Given the description of an element on the screen output the (x, y) to click on. 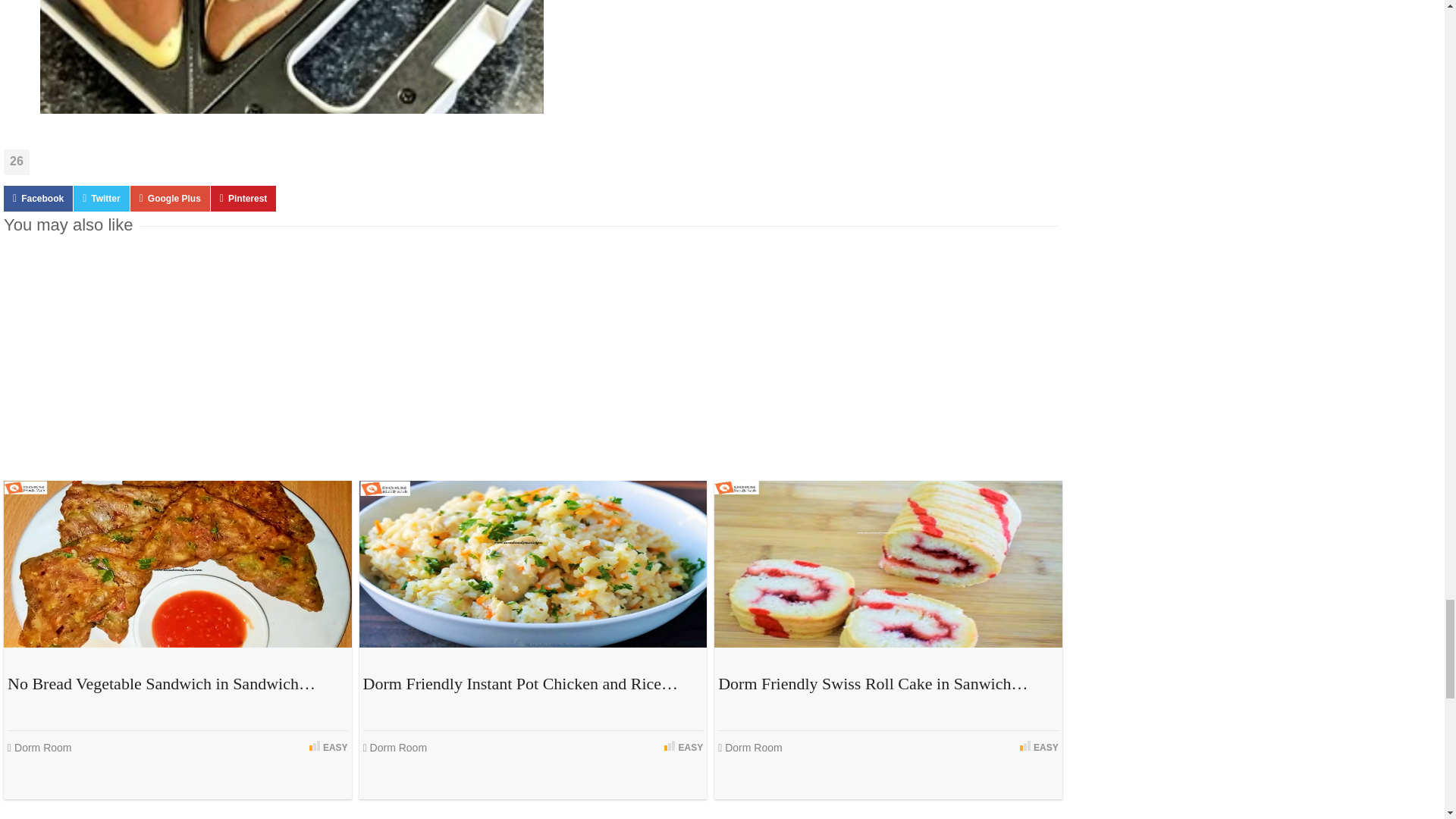
Facebook (38, 198)
Google Plus (170, 198)
Twitter (101, 198)
Pinterest (243, 198)
